Given the description of an element on the screen output the (x, y) to click on. 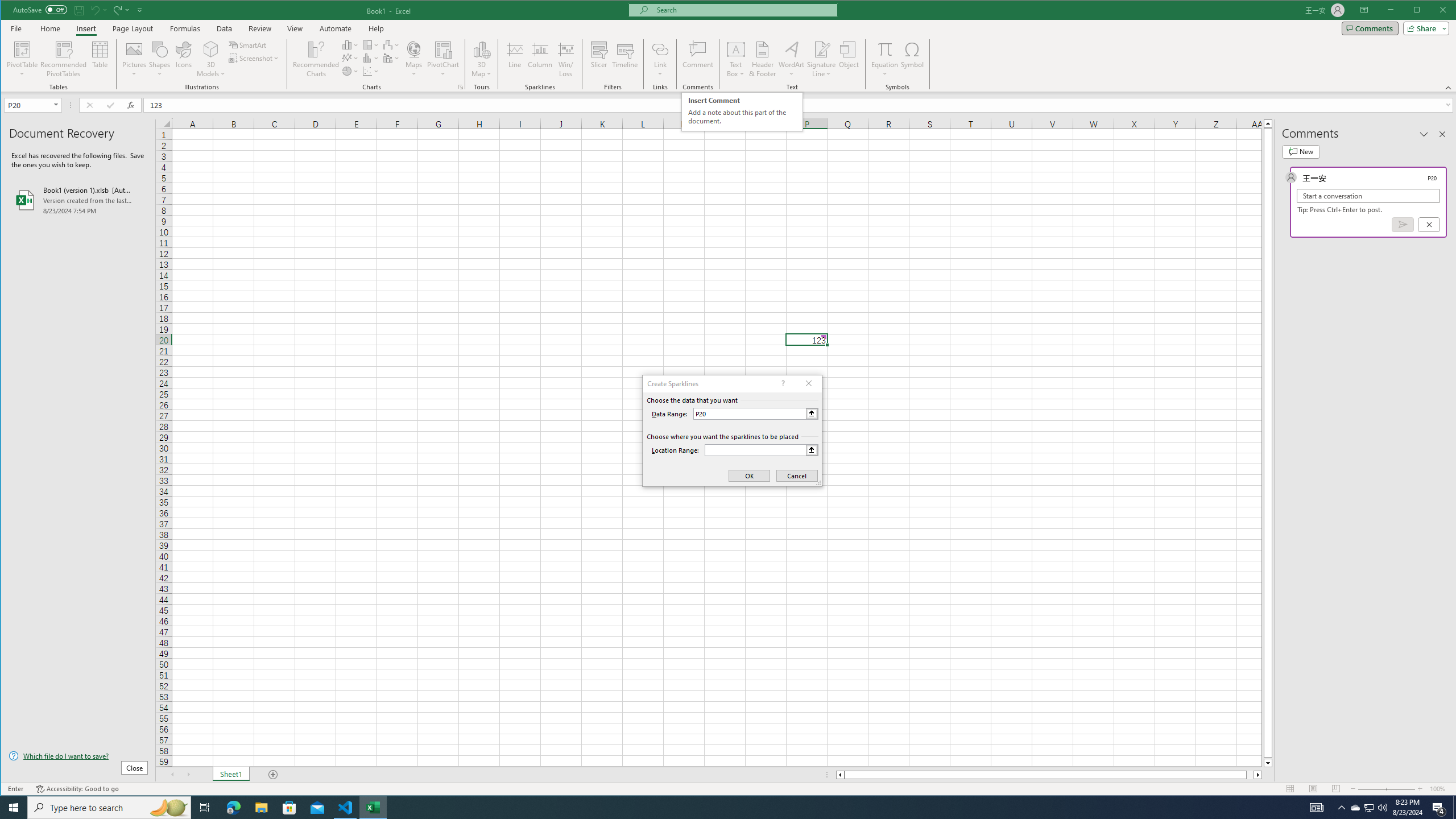
Insert Combo Chart (391, 57)
PivotChart (443, 48)
Maps (413, 59)
Comment (697, 59)
Post comment (Ctrl + Enter) (1402, 224)
Timeline (625, 59)
Insert Waterfall, Funnel, Stock, Surface, or Radar Chart (391, 44)
Insert Hierarchy Chart (371, 44)
Shapes (159, 59)
Equation (884, 48)
